Given the description of an element on the screen output the (x, y) to click on. 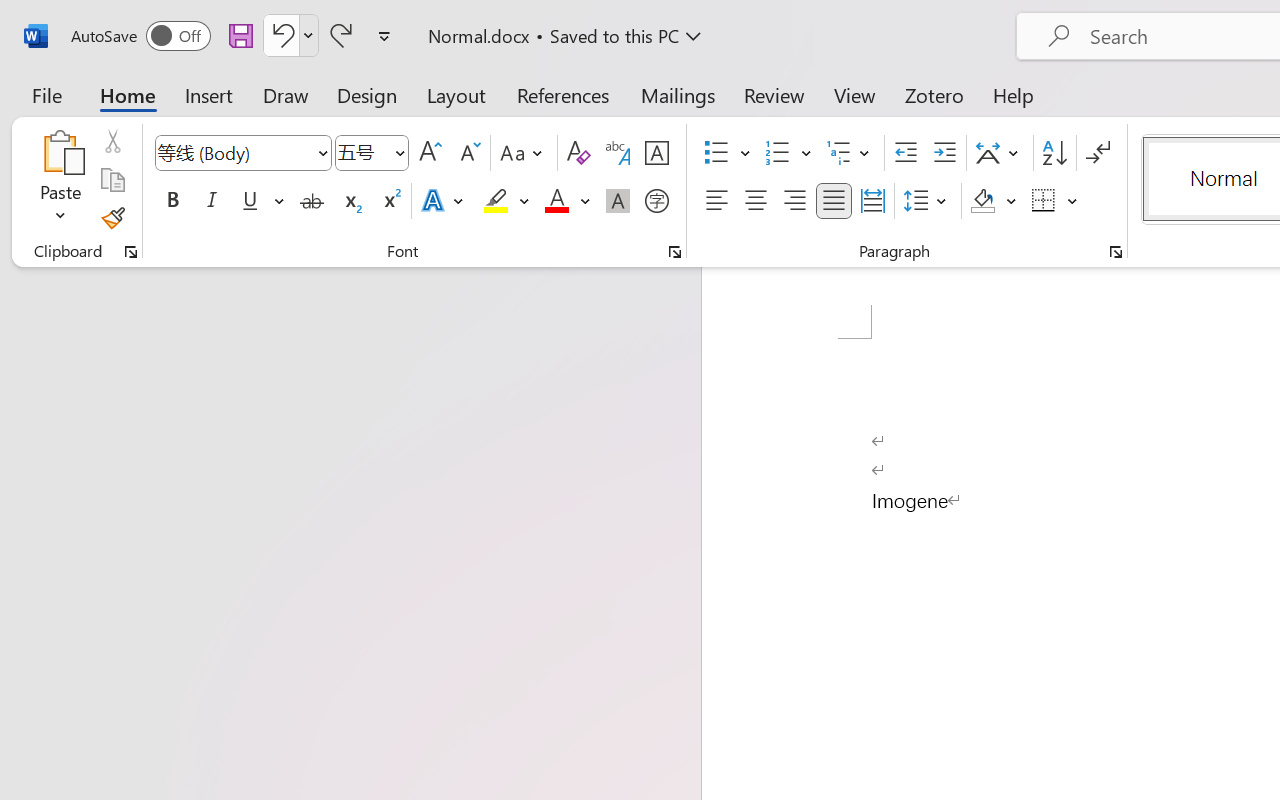
Multilevel List (850, 153)
Font Color (567, 201)
Shrink Font (468, 153)
Show/Hide Editing Marks (1098, 153)
Grow Font (430, 153)
Office Clipboard... (131, 252)
Format Painter (112, 218)
Shading (993, 201)
